Given the description of an element on the screen output the (x, y) to click on. 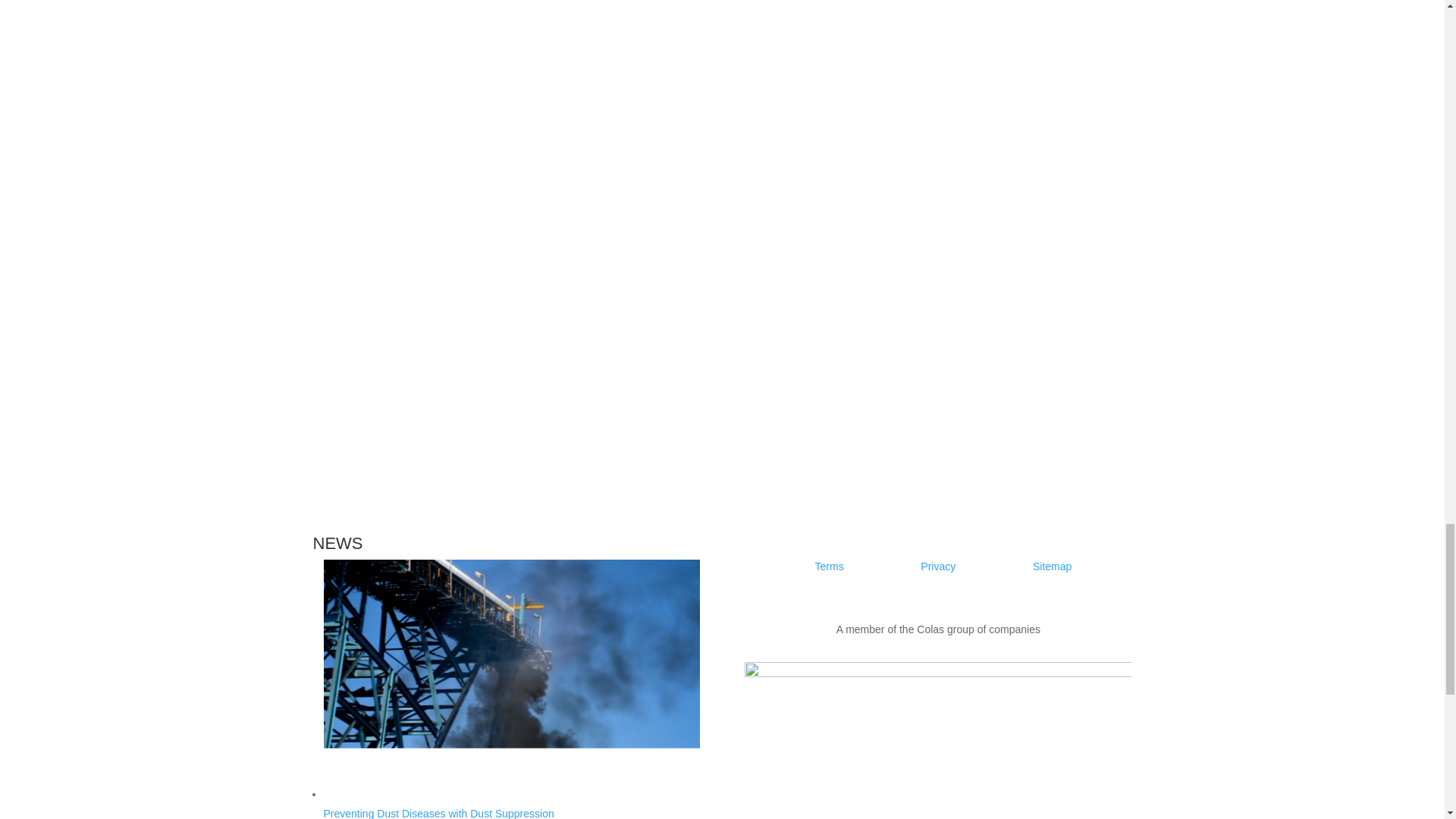
Privacy (937, 566)
Website Terms (829, 566)
Preventing Dust Diseases with Dust Suppression (510, 803)
Website Terms (1051, 566)
COLAS-logo (937, 726)
Sitemap (1051, 566)
Terms (829, 566)
Privacy Statement (937, 566)
